Given the description of an element on the screen output the (x, y) to click on. 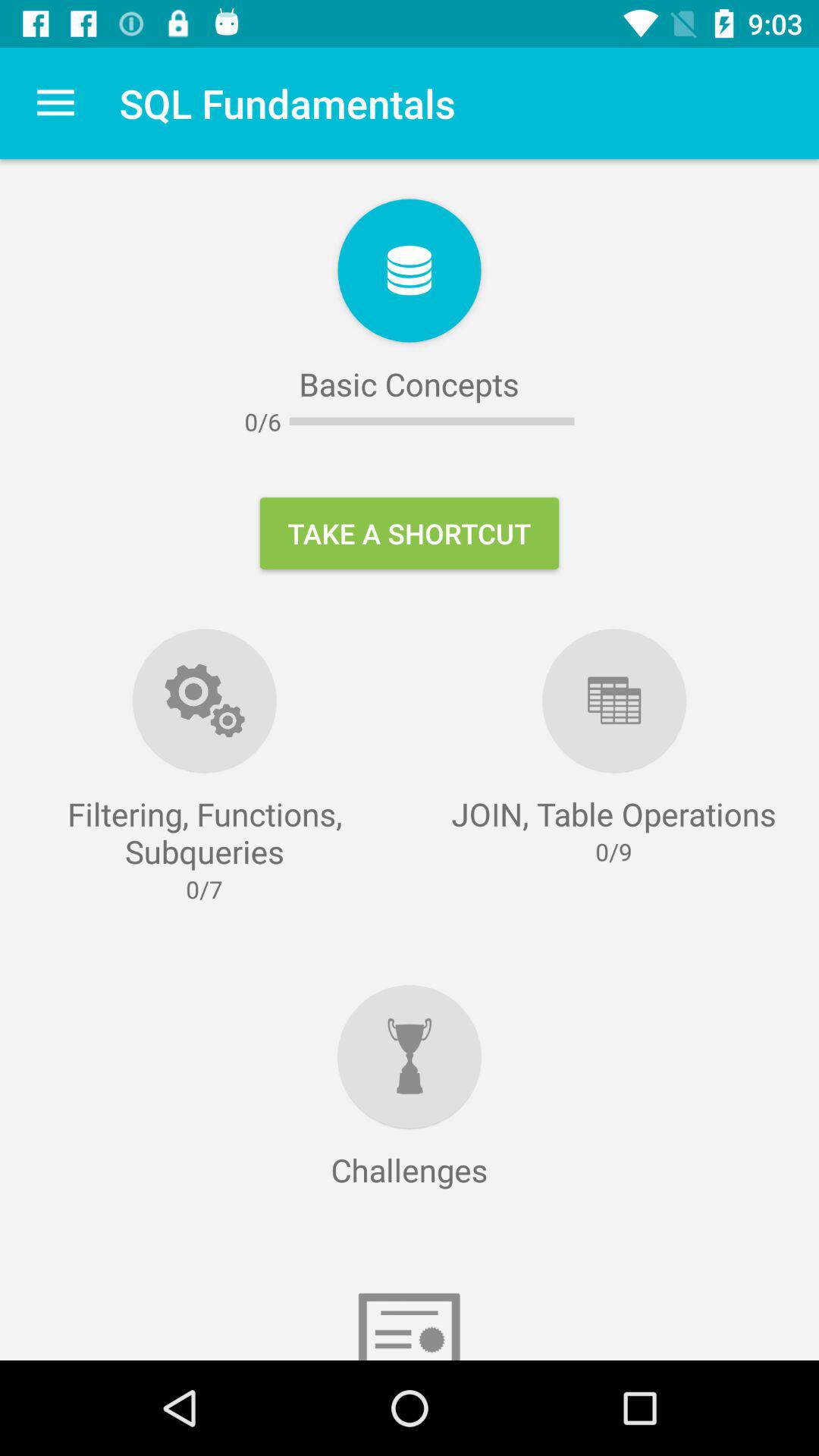
choose the icon below 0/6 (409, 533)
